Given the description of an element on the screen output the (x, y) to click on. 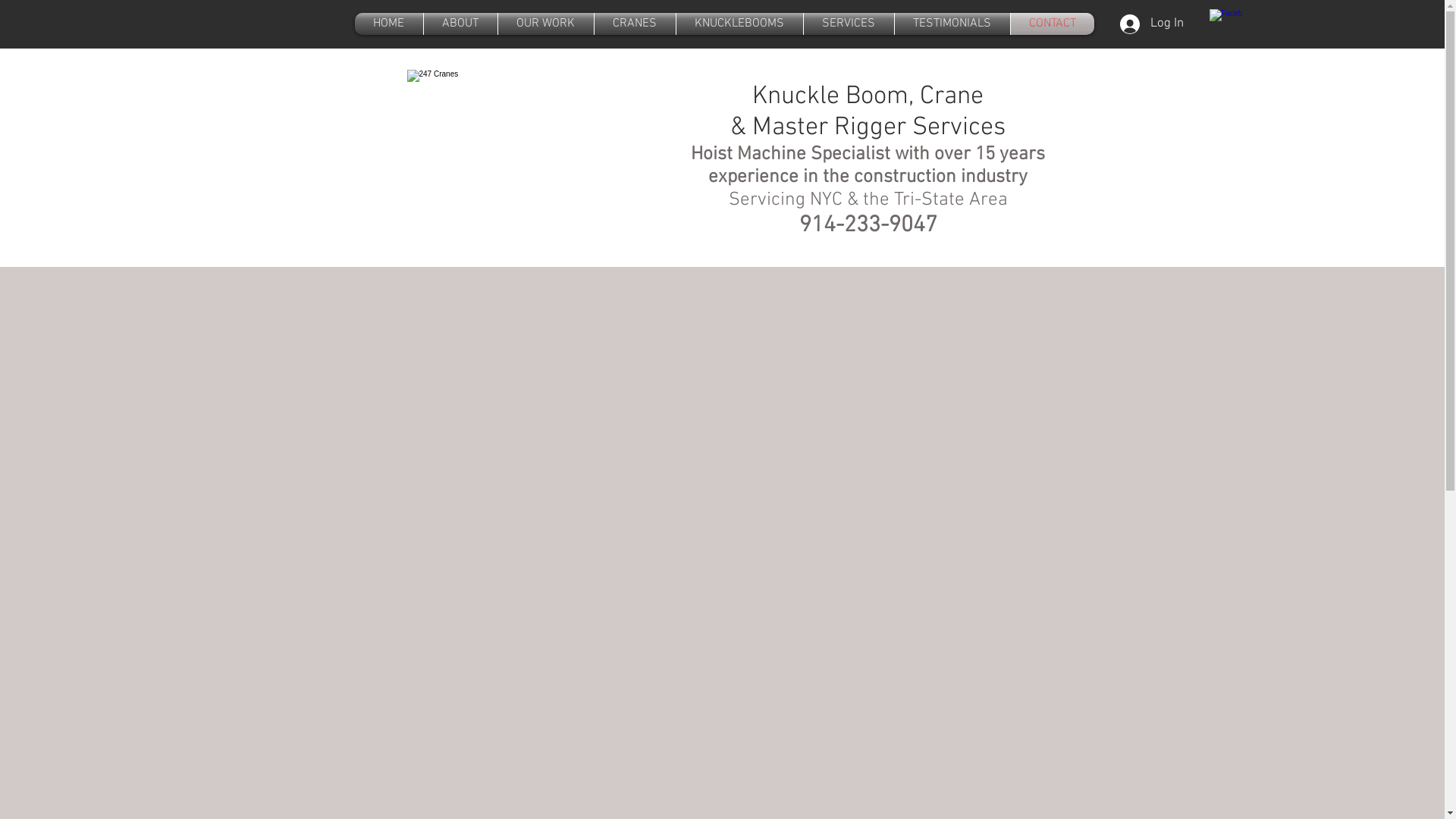
CONTACT Element type: text (1051, 23)
ABOUT Element type: text (459, 23)
SERVICES Element type: text (848, 23)
TESTIMONIALS Element type: text (952, 23)
CRANES Element type: text (634, 23)
HOME Element type: text (388, 23)
OUR WORK Element type: text (545, 23)
KNUCKLEBOOMS Element type: text (739, 23)
Log In Element type: text (1150, 23)
